Given the description of an element on the screen output the (x, y) to click on. 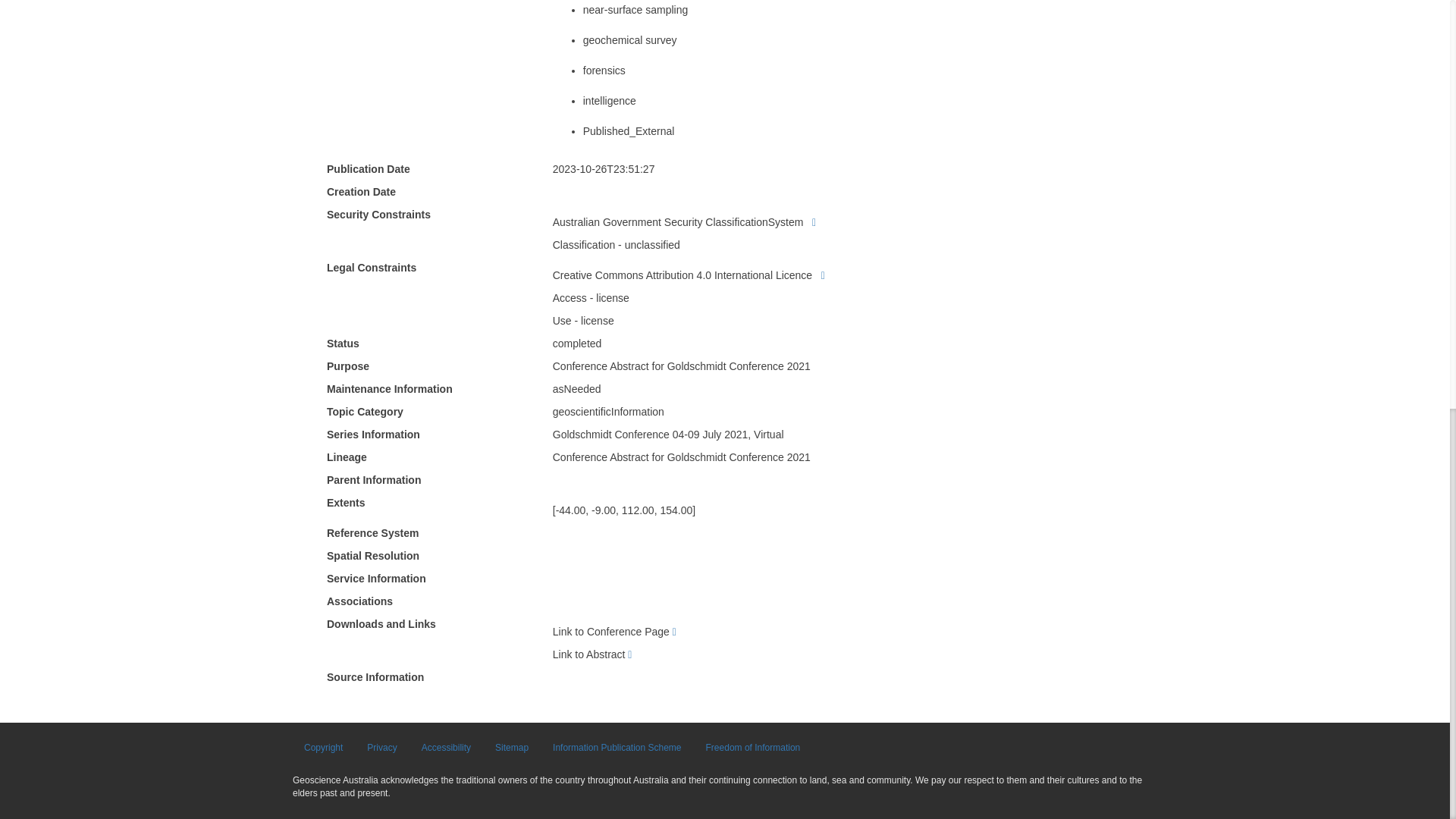
Accessibility (445, 747)
Sitemap (511, 747)
Privacy (381, 747)
Freedom of Information (753, 747)
Copyright (322, 747)
Information Publication Scheme (617, 747)
